Given the description of an element on the screen output the (x, y) to click on. 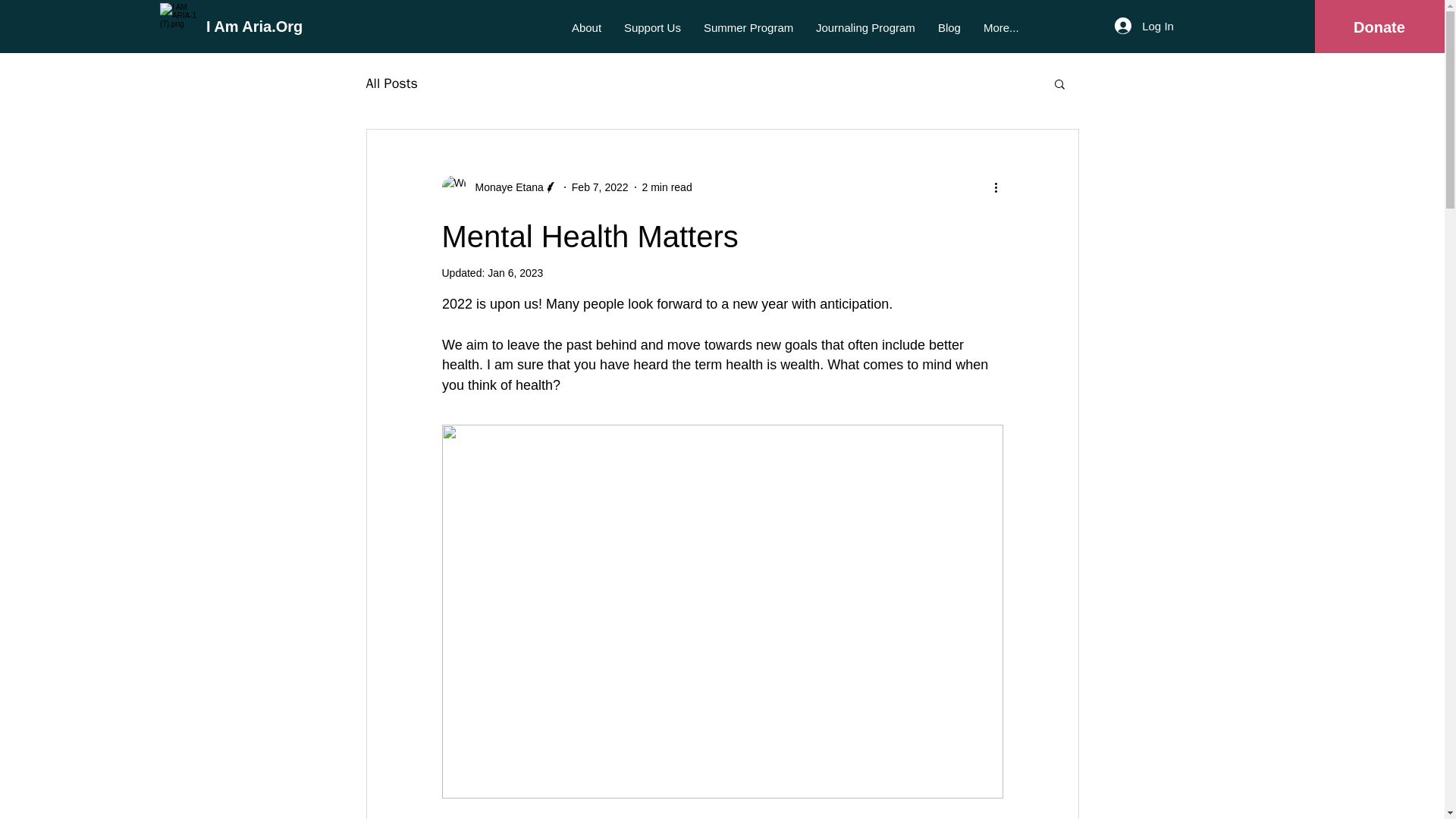
Monaye Etana (499, 187)
Monaye Etana (504, 186)
Log In (1144, 25)
All Posts (390, 83)
Blog (949, 28)
2 min read (667, 186)
Journaling Program (865, 28)
I Am Aria.Org (254, 25)
About (586, 28)
Jan 6, 2023 (515, 272)
